Given the description of an element on the screen output the (x, y) to click on. 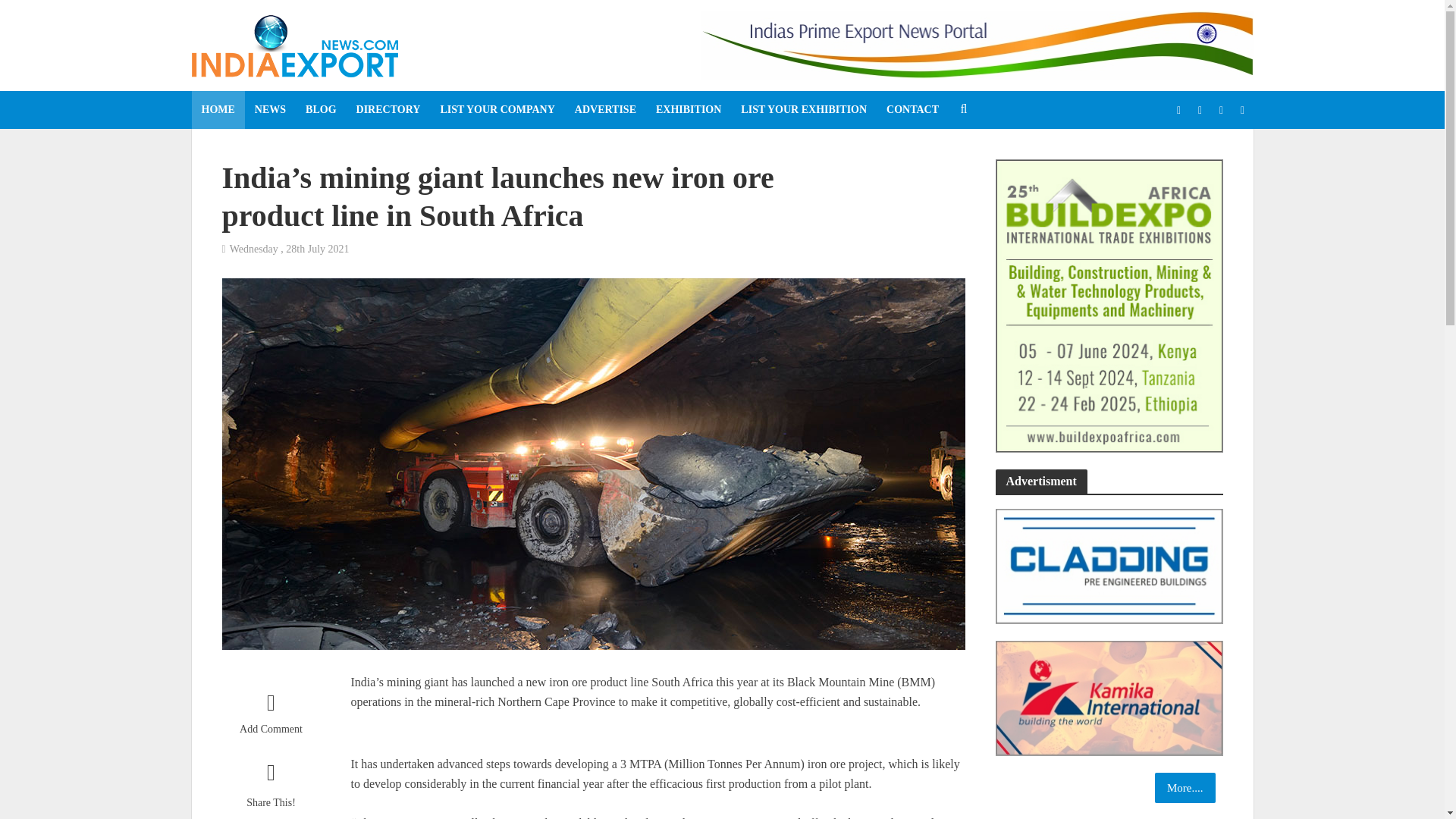
BLOG (320, 109)
KAMIKA INTERNATIONAL (1108, 696)
EXHIBITION (688, 109)
CONTACT (912, 109)
LIST YOUR COMPANY (496, 109)
ADVERTISE (605, 109)
NEWS (269, 109)
DIRECTORY (388, 109)
Buildexpo Africa (1108, 304)
Add Comment (270, 716)
HOME (217, 109)
LIST YOUR EXHIBITION (803, 109)
CLADDING PROJECTS PRIVATE LIMITED (1108, 565)
